Given the description of an element on the screen output the (x, y) to click on. 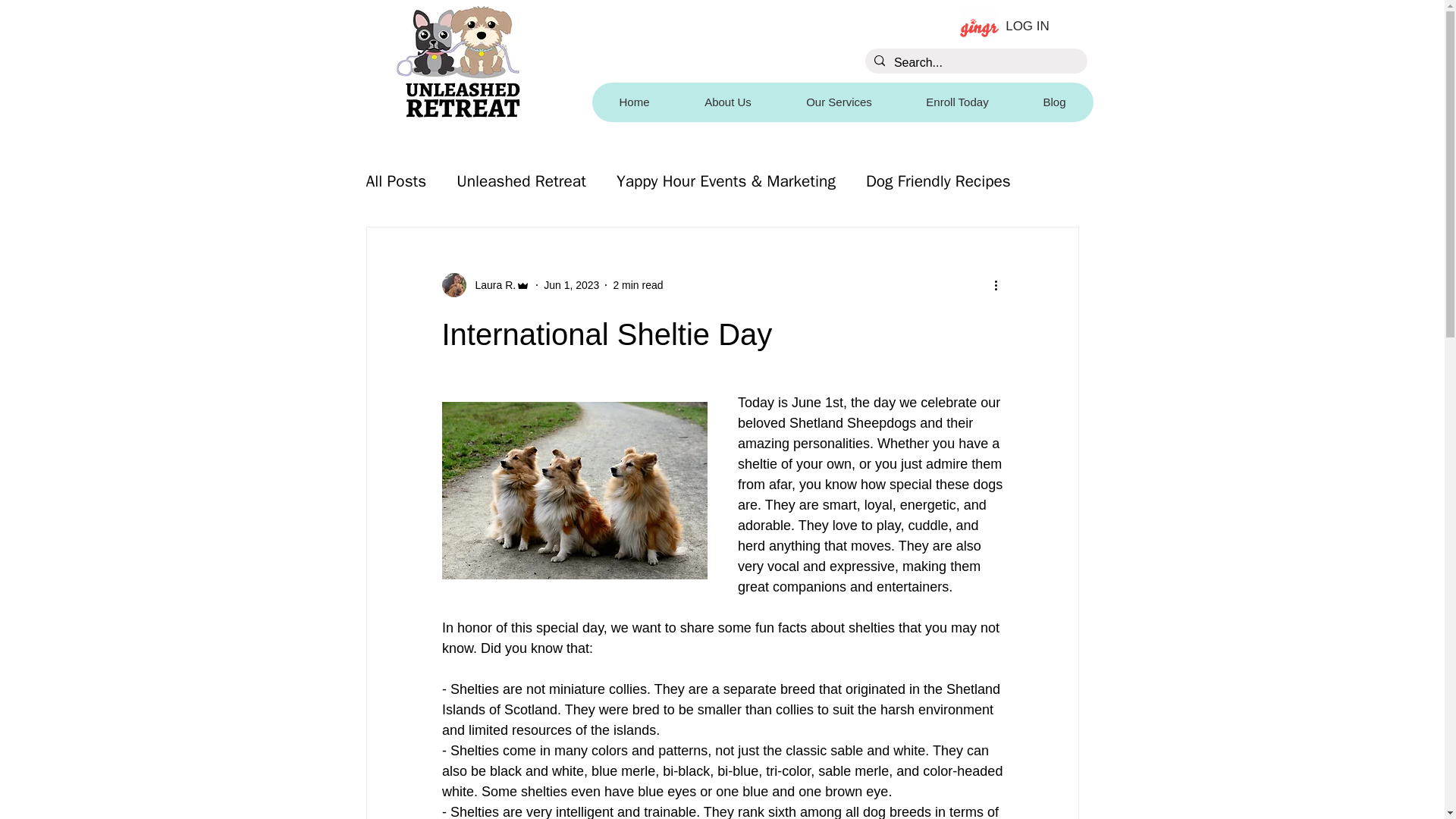
About Us (727, 102)
All Posts (395, 180)
LOG IN (1005, 25)
Home (634, 102)
Dog Friendly Recipes (938, 180)
Blog (1053, 102)
Laura R. (485, 284)
2 min read (637, 285)
Unleashed Retreat (521, 180)
Jun 1, 2023 (570, 285)
Laura R. (490, 285)
